Given the description of an element on the screen output the (x, y) to click on. 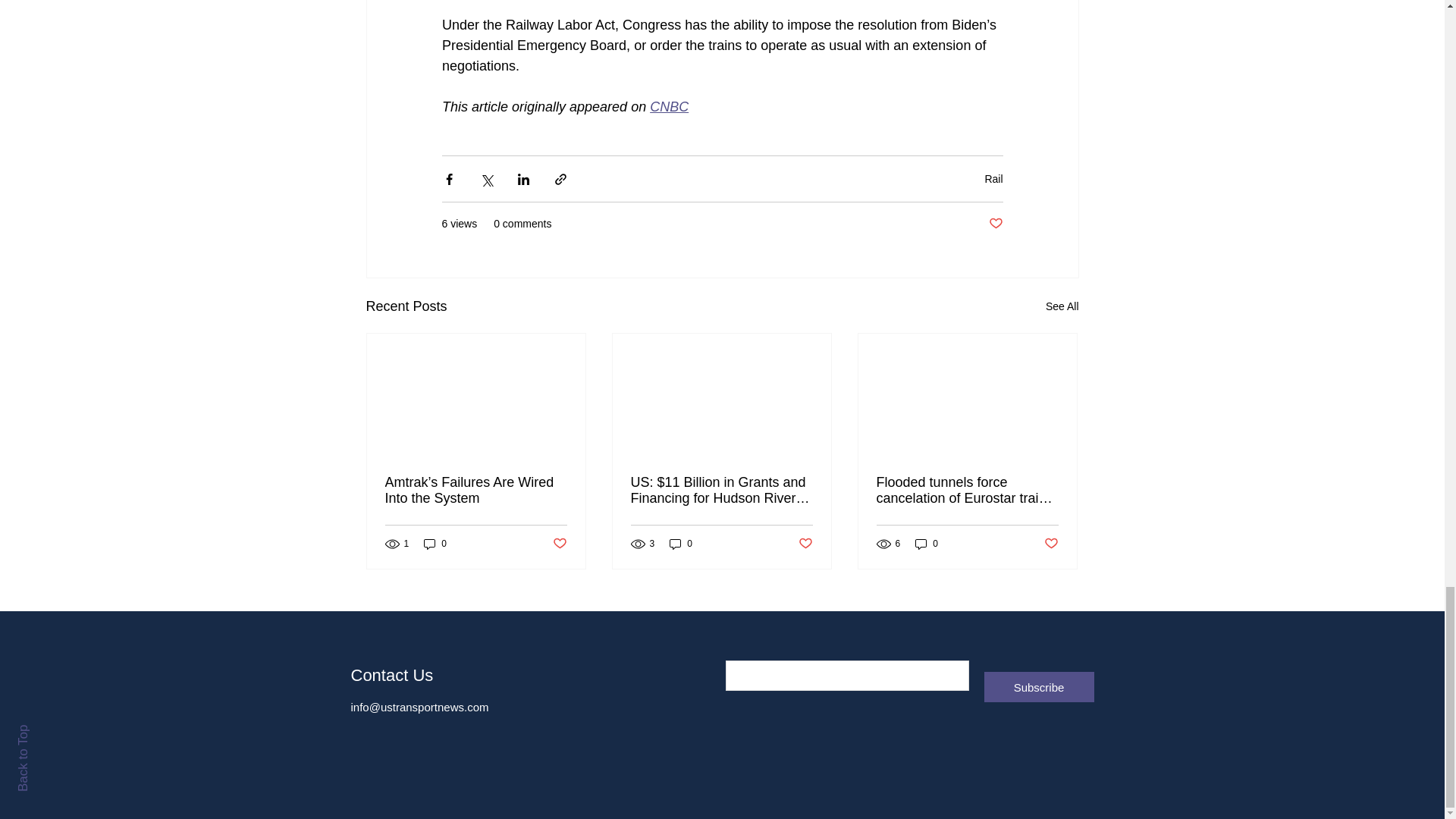
Post not marked as liked (558, 544)
Rail (993, 177)
CNBC (668, 106)
0 (435, 543)
See All (1061, 306)
Post not marked as liked (995, 223)
